Given the description of an element on the screen output the (x, y) to click on. 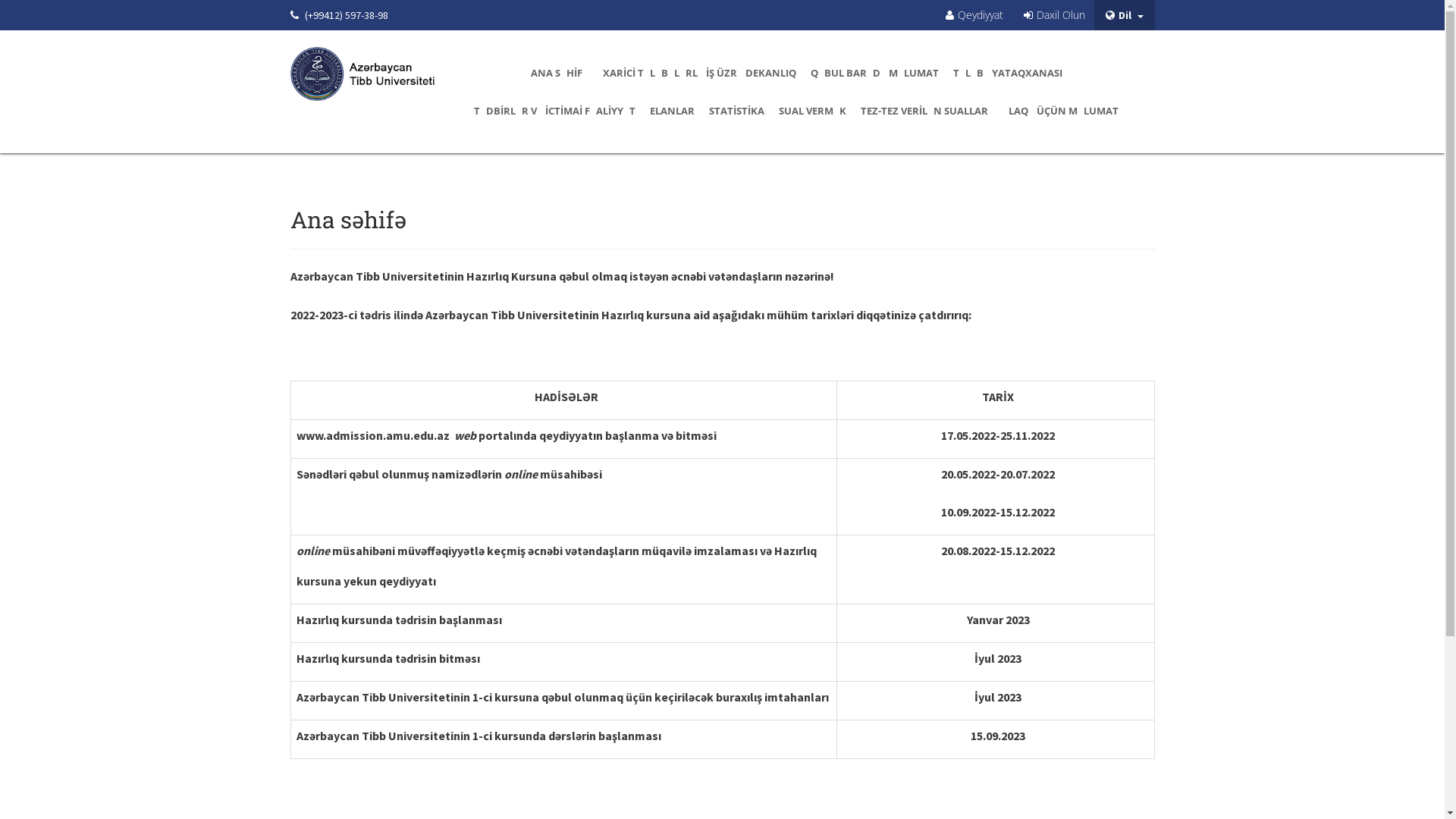
STATISTIKA Element type: text (736, 110)
ELANLAR Element type: text (671, 110)
Dil Element type: text (1123, 15)
Qeydiyyat Element type: text (973, 14)
Daxil Olun Element type: text (1054, 14)
